Given the description of an element on the screen output the (x, y) to click on. 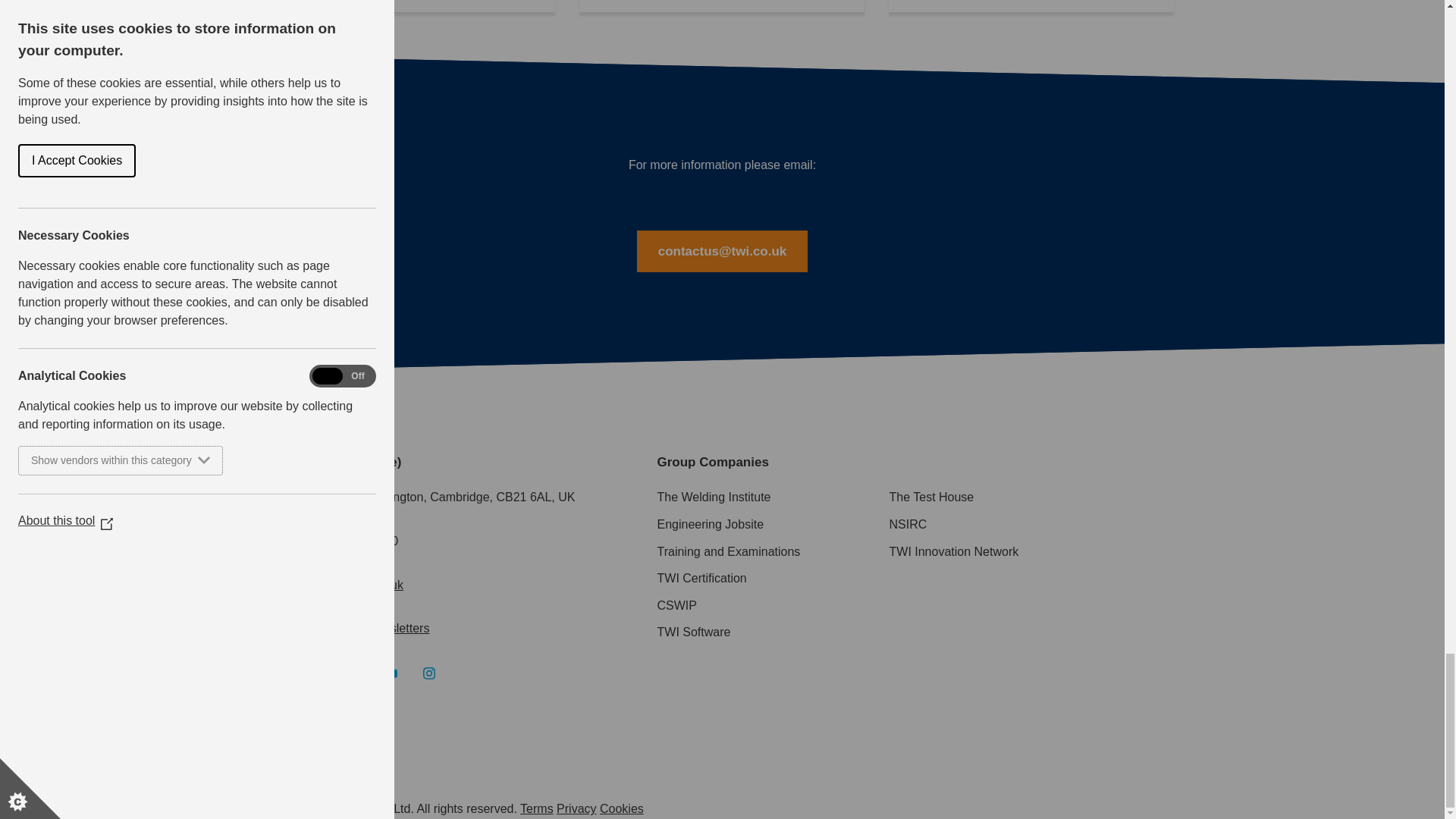
Subscribe to our newsletters (352, 627)
